Given the description of an element on the screen output the (x, y) to click on. 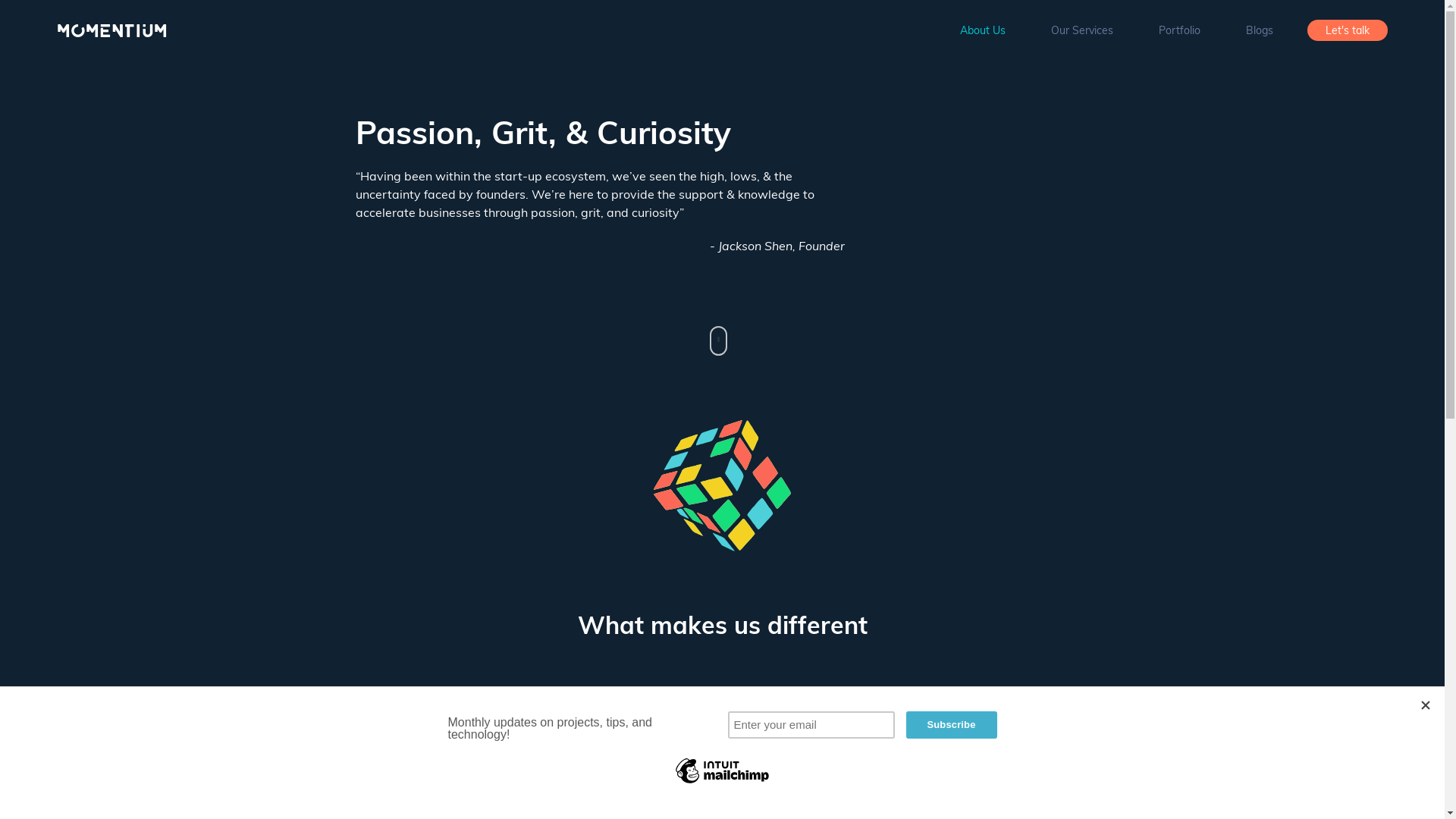
Our Services Element type: text (1081, 30)
Let's talk Element type: text (1347, 29)
Portfolio Element type: text (1179, 30)
Blogs Element type: text (1259, 30)
About Us Element type: text (982, 30)
MOMENTIUM Element type: text (111, 30)
